Given the description of an element on the screen output the (x, y) to click on. 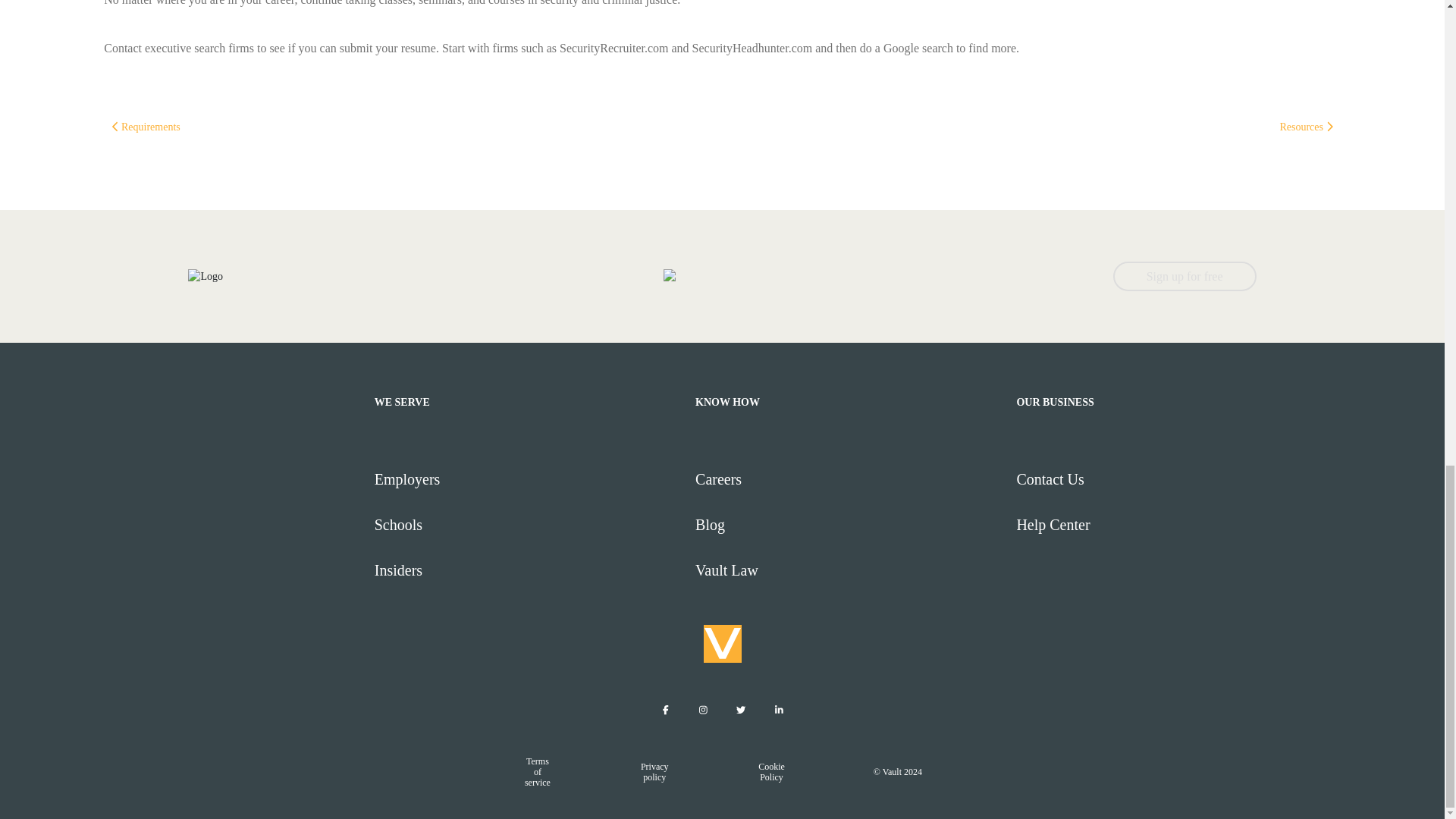
Schools (528, 524)
Vault Law (849, 570)
Careers (849, 478)
Contact Us (1170, 478)
Resources (1305, 126)
Requirements (146, 126)
Help Center (1170, 524)
Employers (528, 478)
Blog (849, 524)
Insiders (528, 570)
